Given the description of an element on the screen output the (x, y) to click on. 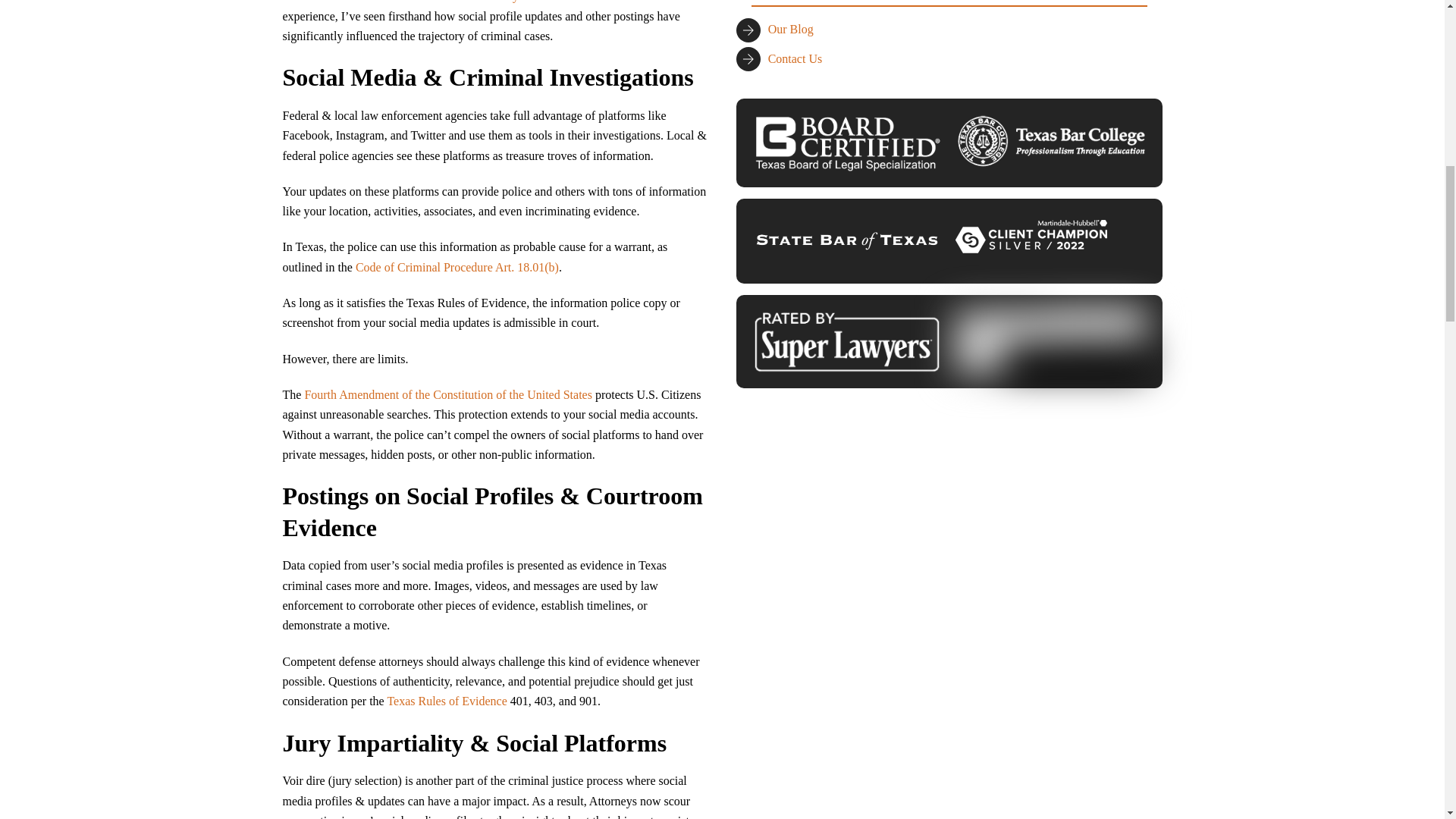
The Impact of Social Media on Texas Criminal Cases (1051, 140)
The Impact of Social Media on Texas Criminal Cases (846, 341)
The Impact of Social Media on Texas Criminal Cases (846, 142)
The Impact of Social Media on Texas Criminal Cases (846, 240)
The Impact of Social Media on Texas Criminal Cases (1051, 341)
The Impact of Social Media on Texas Criminal Cases (1030, 236)
